Given the description of an element on the screen output the (x, y) to click on. 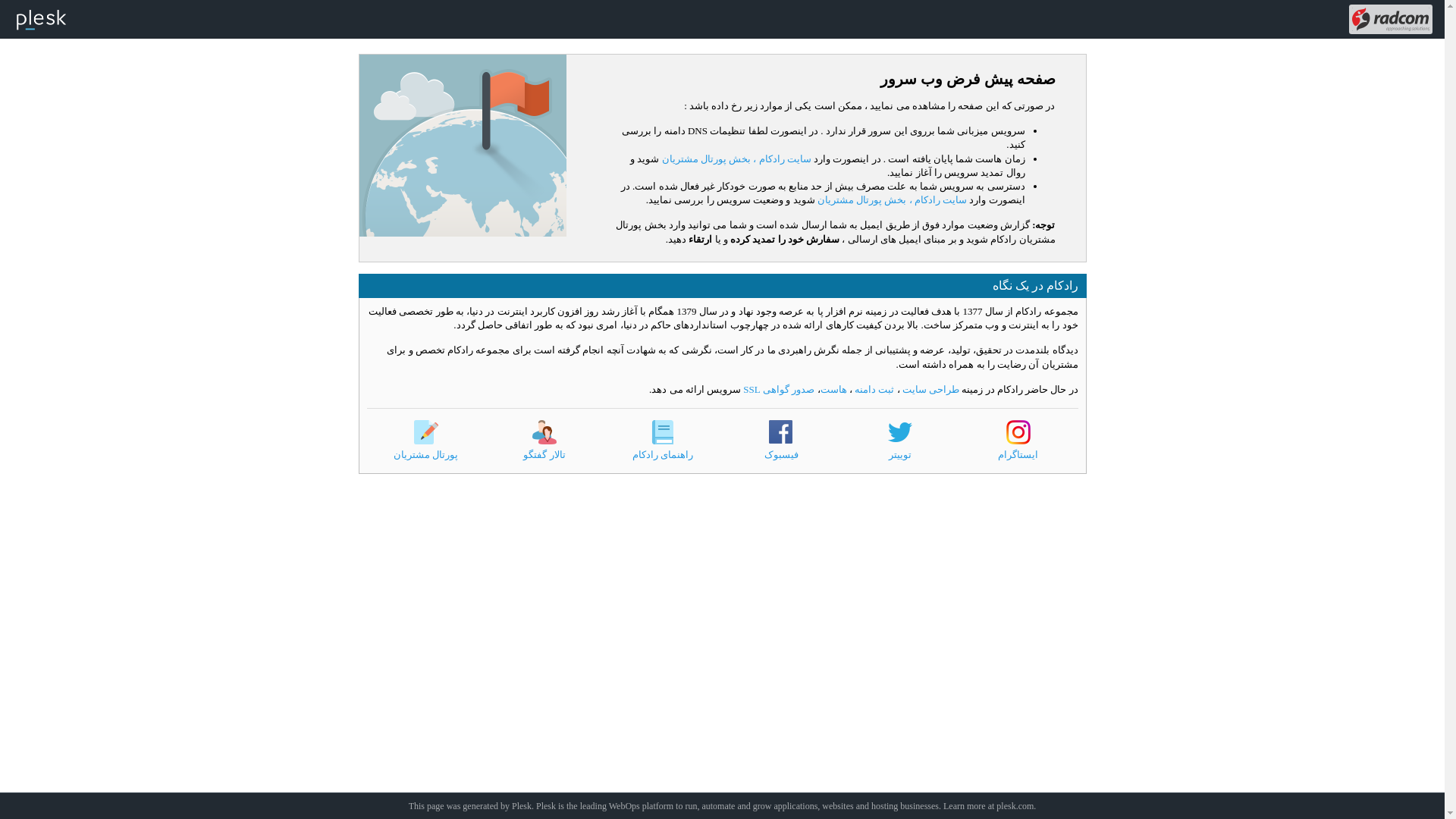
plesk.com (1014, 805)
